Given the description of an element on the screen output the (x, y) to click on. 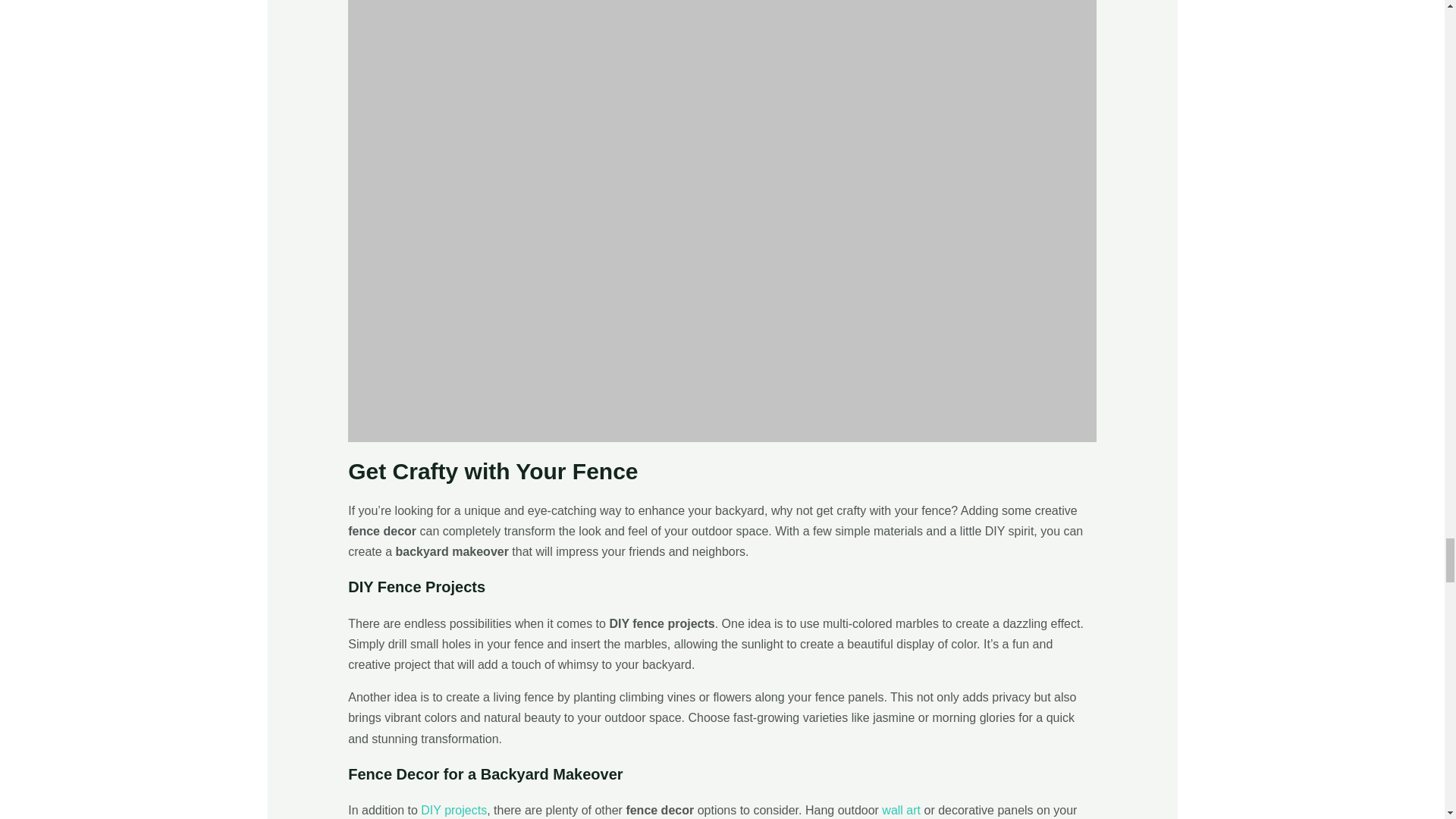
wall art (901, 809)
DIY projects (453, 809)
